Given the description of an element on the screen output the (x, y) to click on. 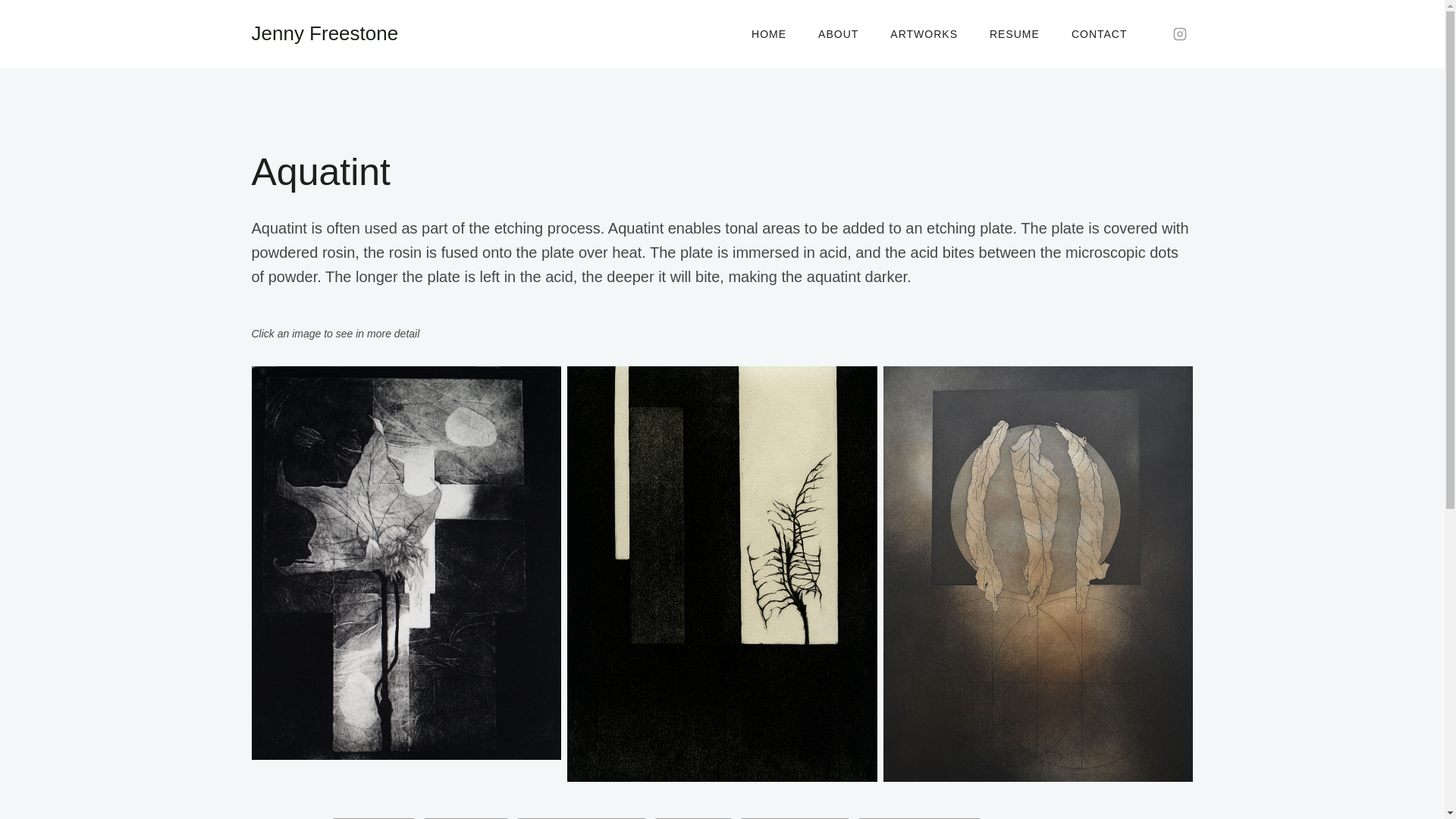
ABOUT (838, 33)
RESUME (1014, 33)
HOME (768, 33)
ARTWORKS (924, 33)
